Given the description of an element on the screen output the (x, y) to click on. 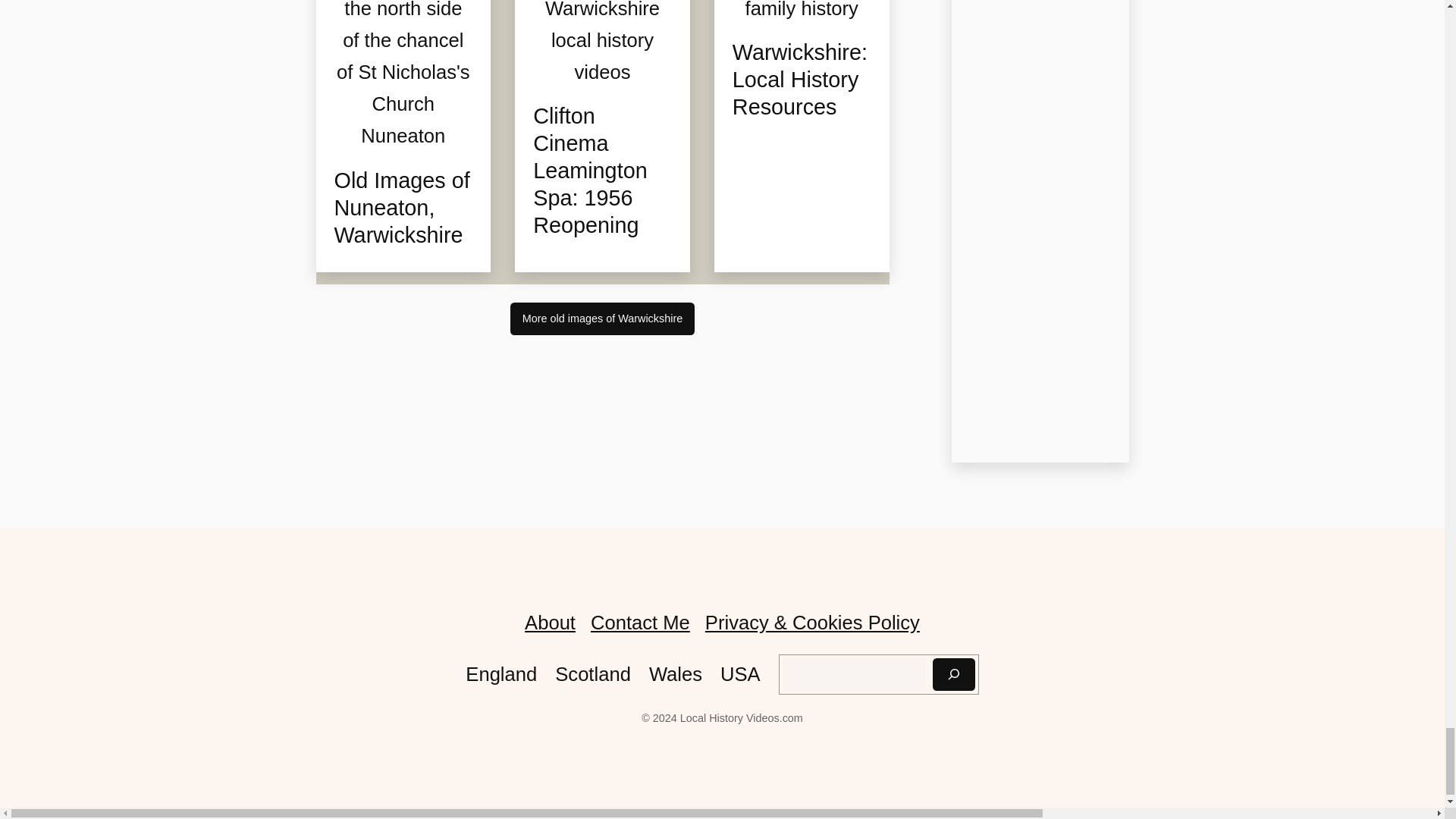
Wales (675, 674)
Contact Me (640, 622)
Old Images of Nuneaton, Warwickshire (402, 208)
About (549, 622)
Warwickshire: Local History Resources (801, 80)
USA (740, 674)
More old images of Warwickshire (602, 318)
England (501, 674)
Scotland (592, 674)
Clifton Cinema Leamington Spa: 1956 Reopening (601, 171)
